Given the description of an element on the screen output the (x, y) to click on. 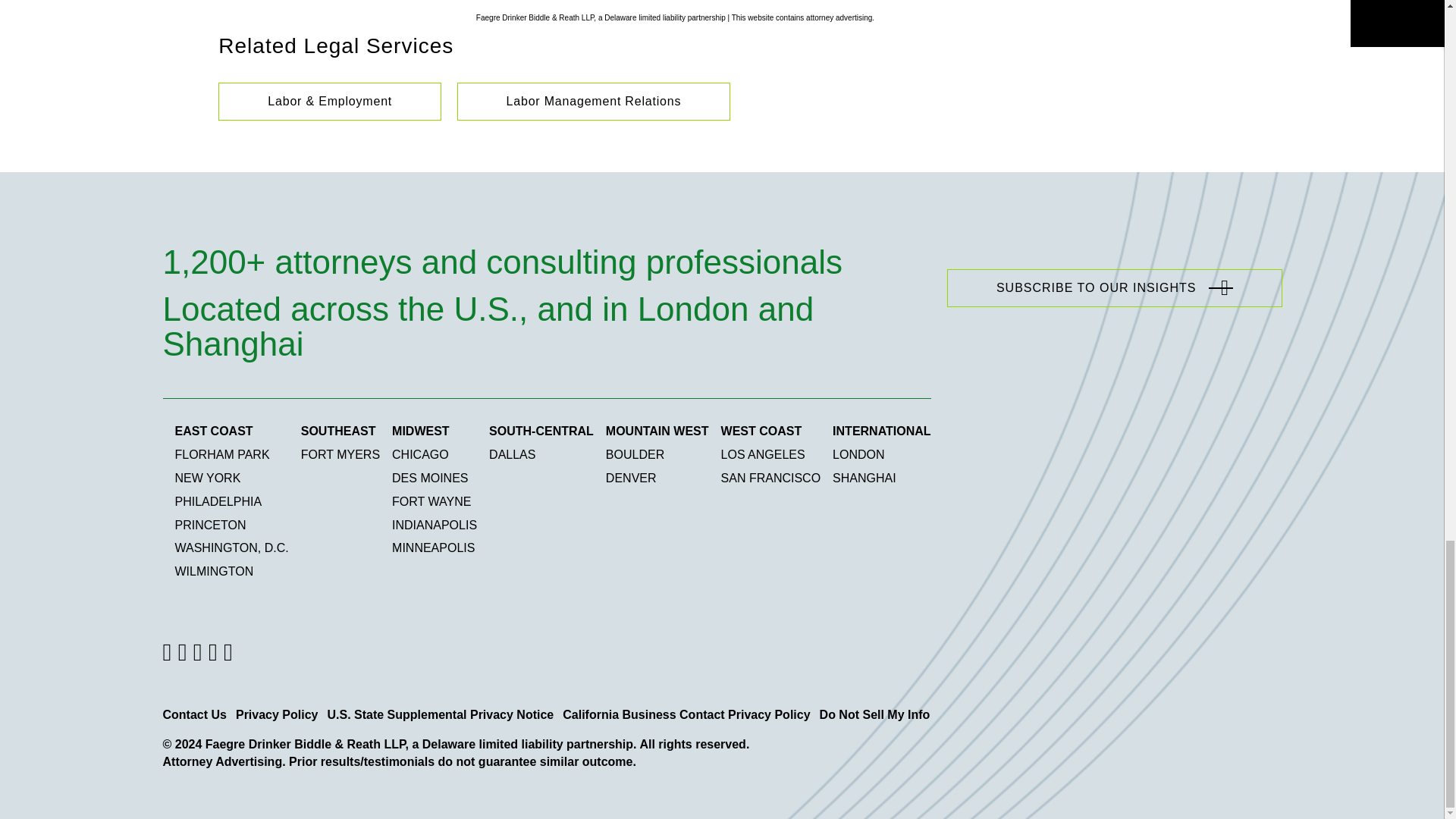
Labor Management Relations (593, 101)
FLORHAM PARK (221, 454)
Located across the U.S., and in London and Shanghai (541, 320)
SUBSCRIBE TO OUR INSIGHTS (1114, 288)
